Given the description of an element on the screen output the (x, y) to click on. 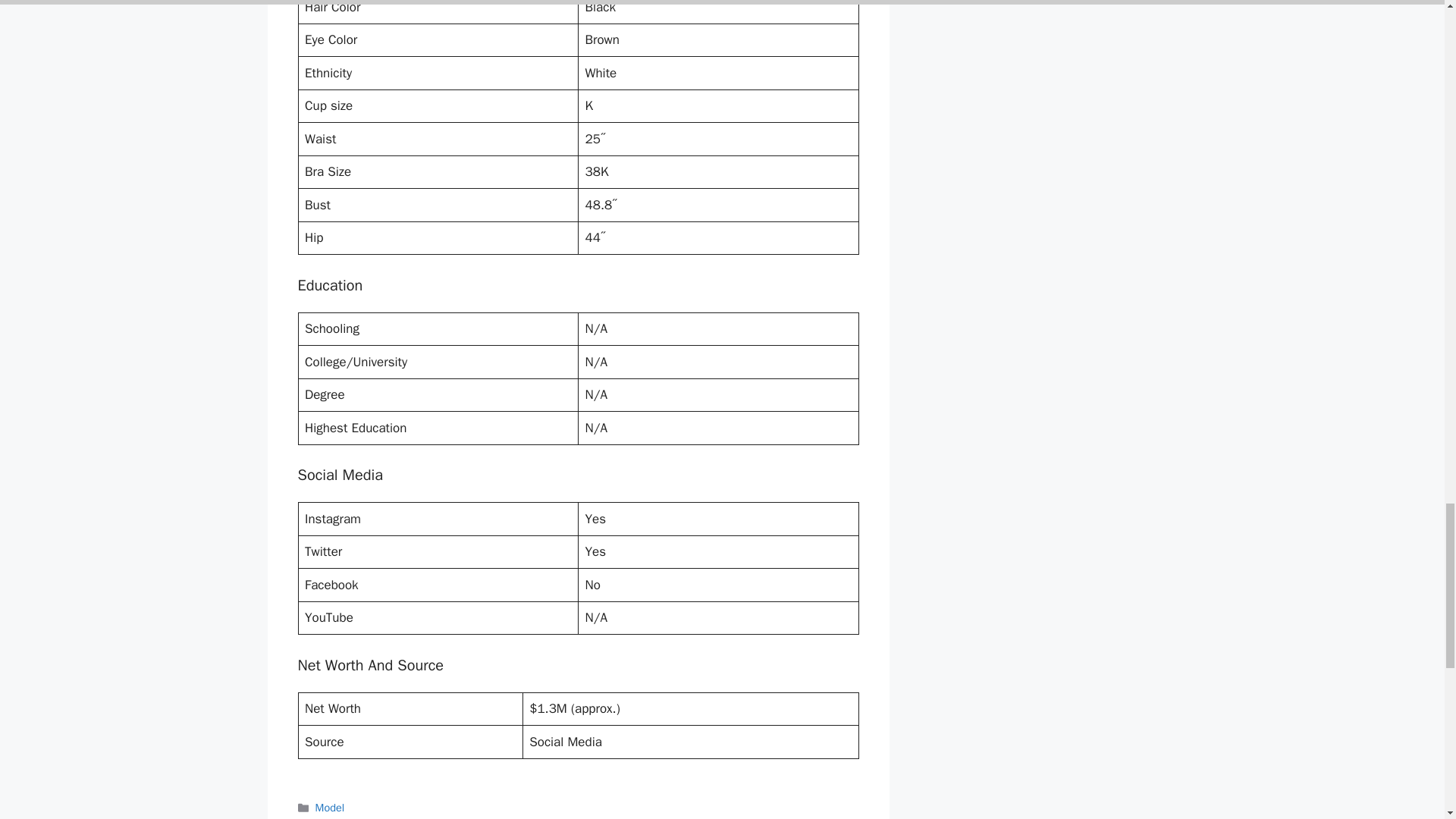
berthier anastasiya (744, 818)
anastasiya berthier only fans (482, 818)
anastasiya berthier onlyfans (625, 818)
Model (330, 807)
anastasiya berthier (361, 818)
